Given the description of an element on the screen output the (x, y) to click on. 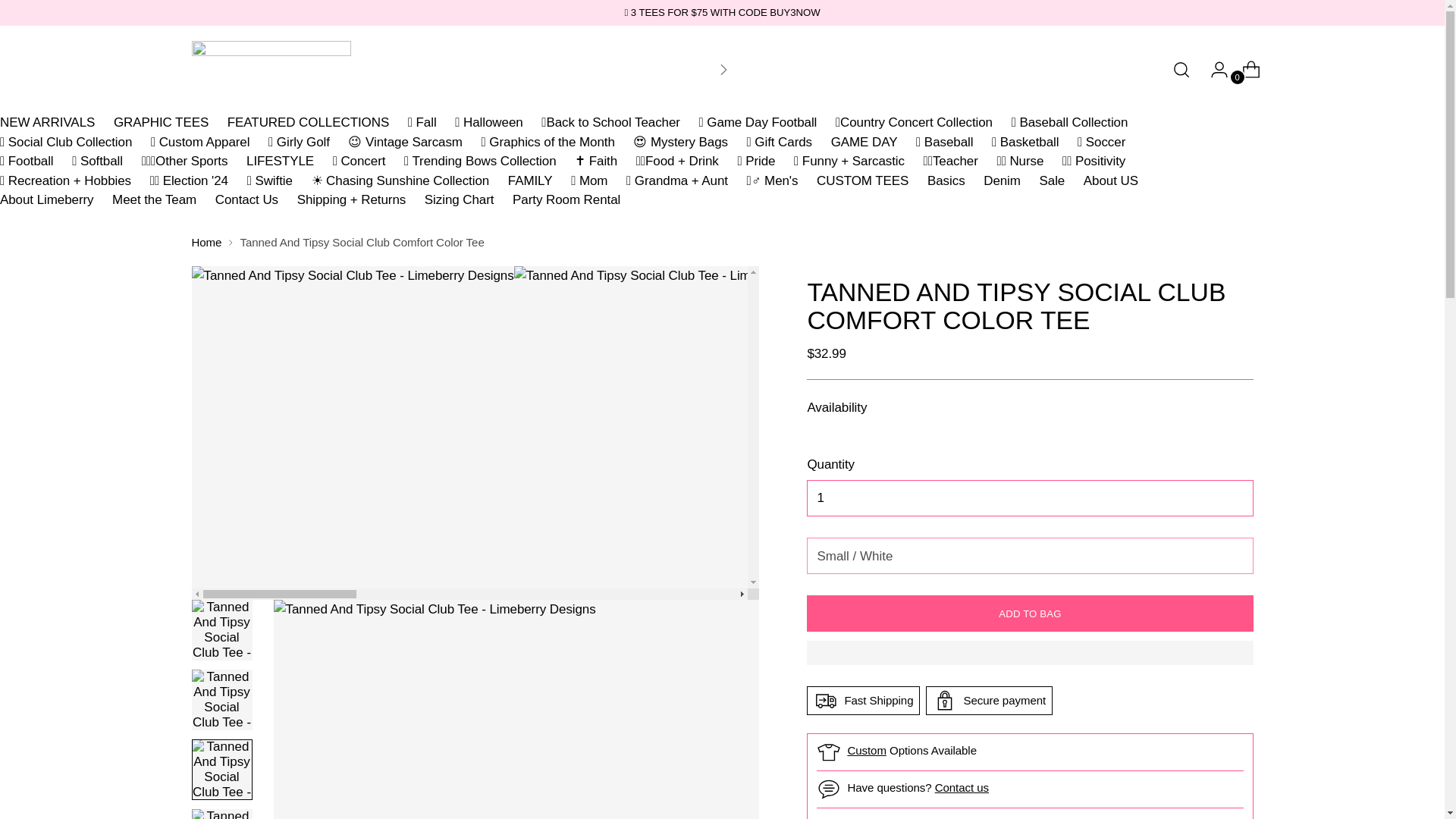
Contact Us (961, 787)
Custom Apparel (866, 749)
1 (1029, 497)
